Given the description of an element on the screen output the (x, y) to click on. 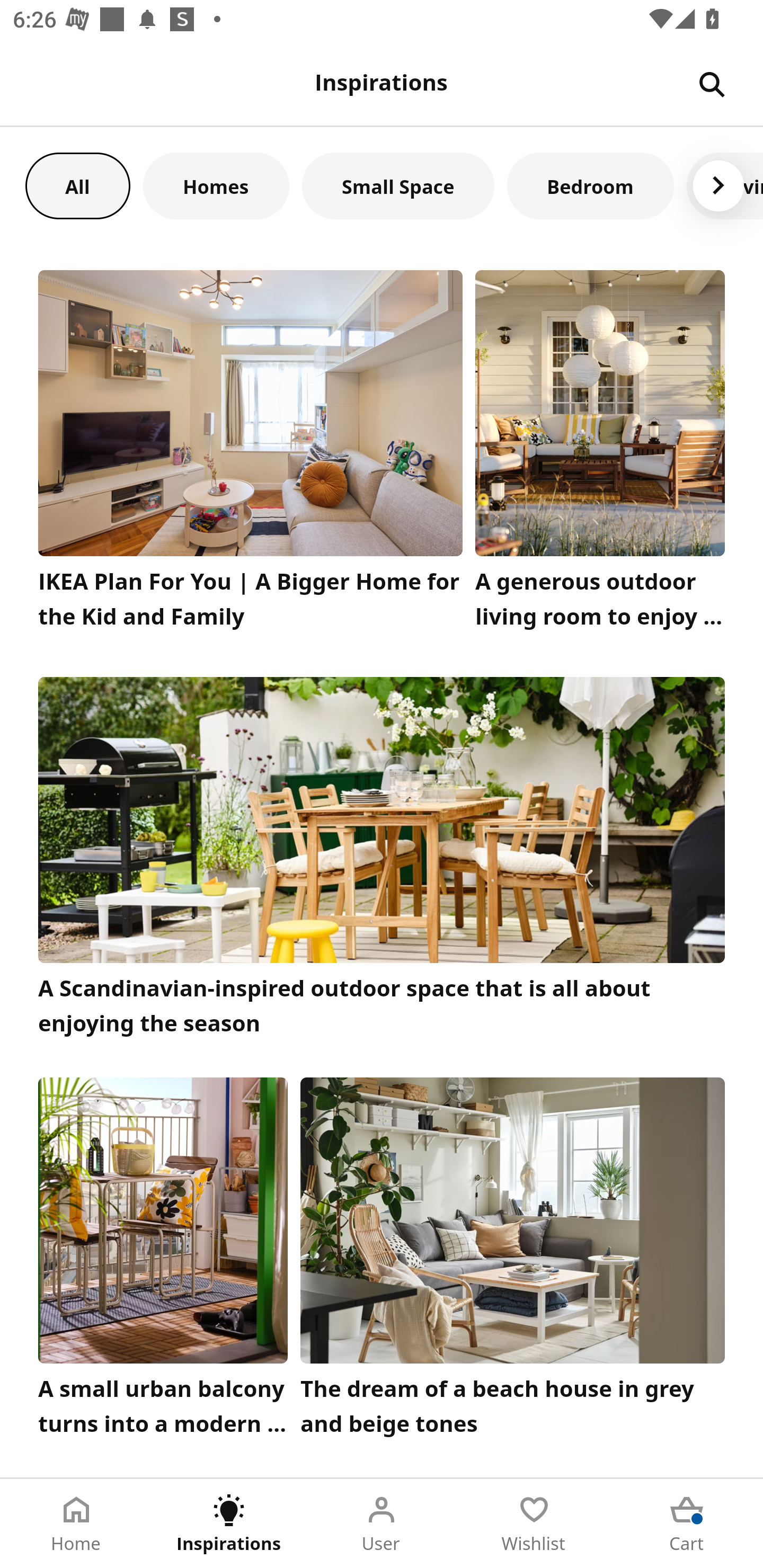
All (77, 185)
Homes (216, 185)
Small Space (398, 185)
Bedroom (590, 185)
The dream of a beach house in grey and beige tones (512, 1261)
Home
Tab 1 of 5 (76, 1522)
Inspirations
Tab 2 of 5 (228, 1522)
User
Tab 3 of 5 (381, 1522)
Wishlist
Tab 4 of 5 (533, 1522)
Cart
Tab 5 of 5 (686, 1522)
